Given the description of an element on the screen output the (x, y) to click on. 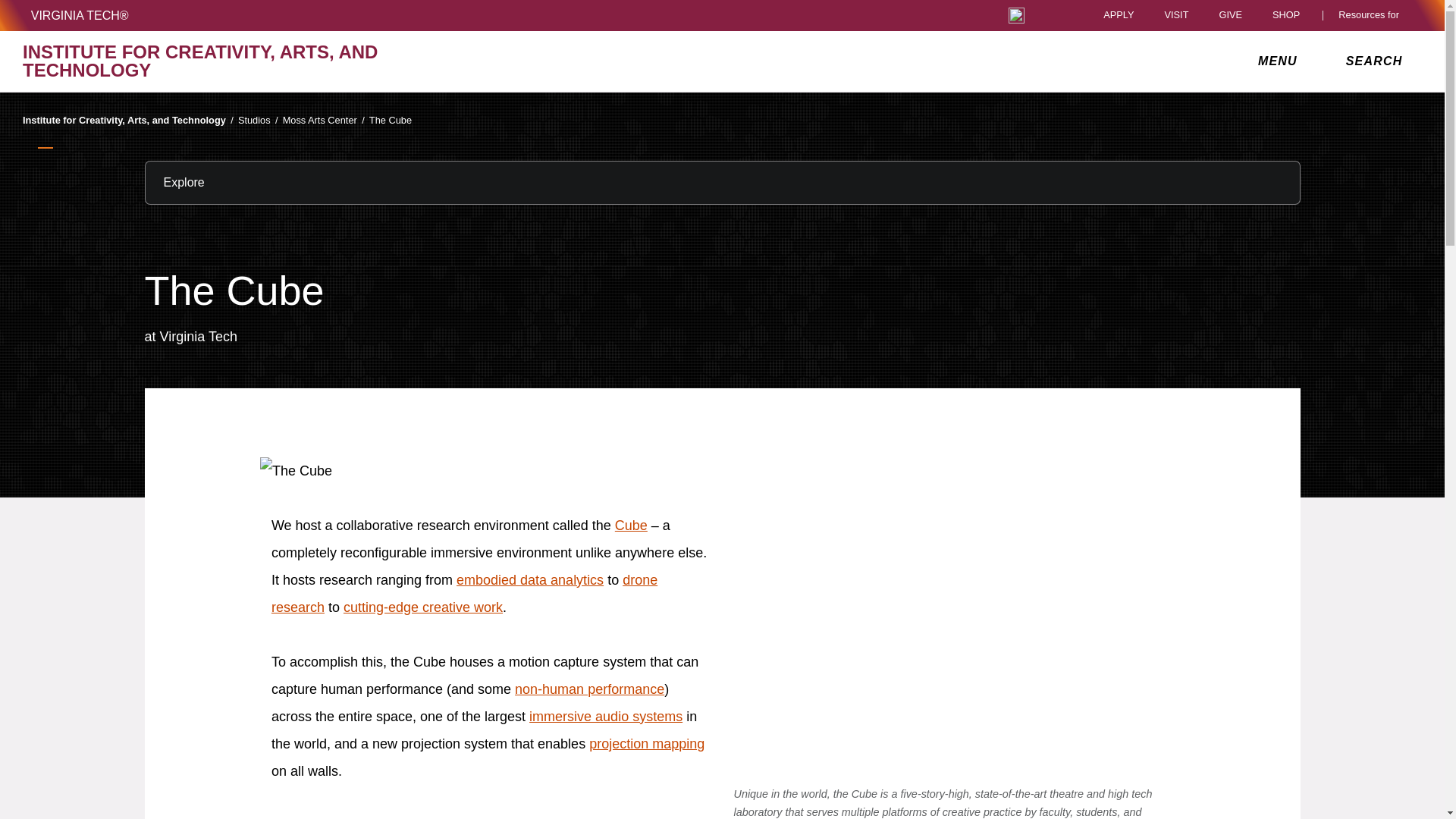
VISIT (1175, 15)
APPLY (1118, 15)
GIVE (1229, 15)
MENU (1280, 61)
Universal Access Toggle (1017, 15)
SHOP (1289, 15)
INSTITUTE FOR CREATIVITY, ARTS, AND TECHNOLOGY (250, 60)
Resources for (1372, 15)
